Given the description of an element on the screen output the (x, y) to click on. 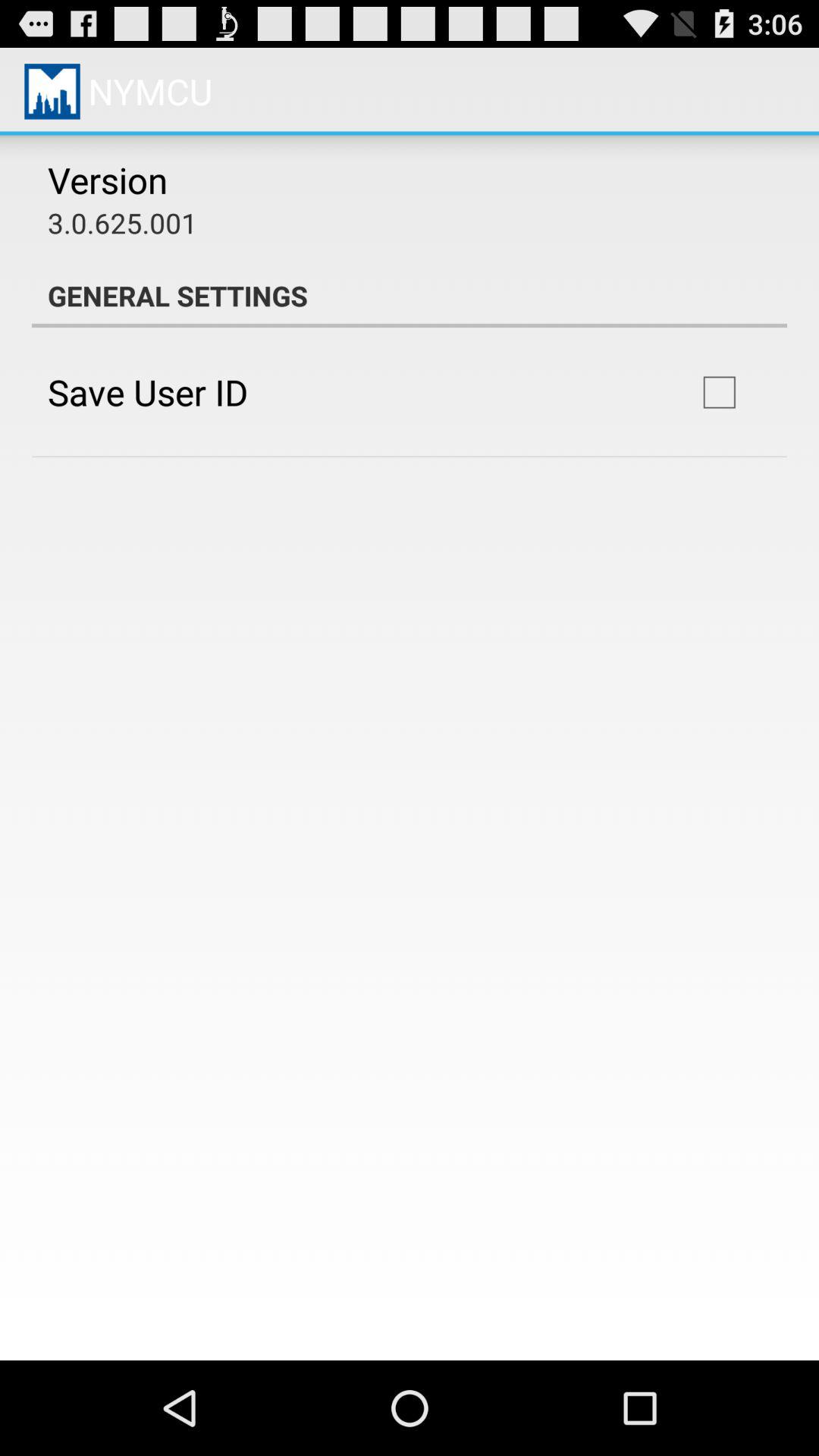
select 3 0 625 app (122, 222)
